Given the description of an element on the screen output the (x, y) to click on. 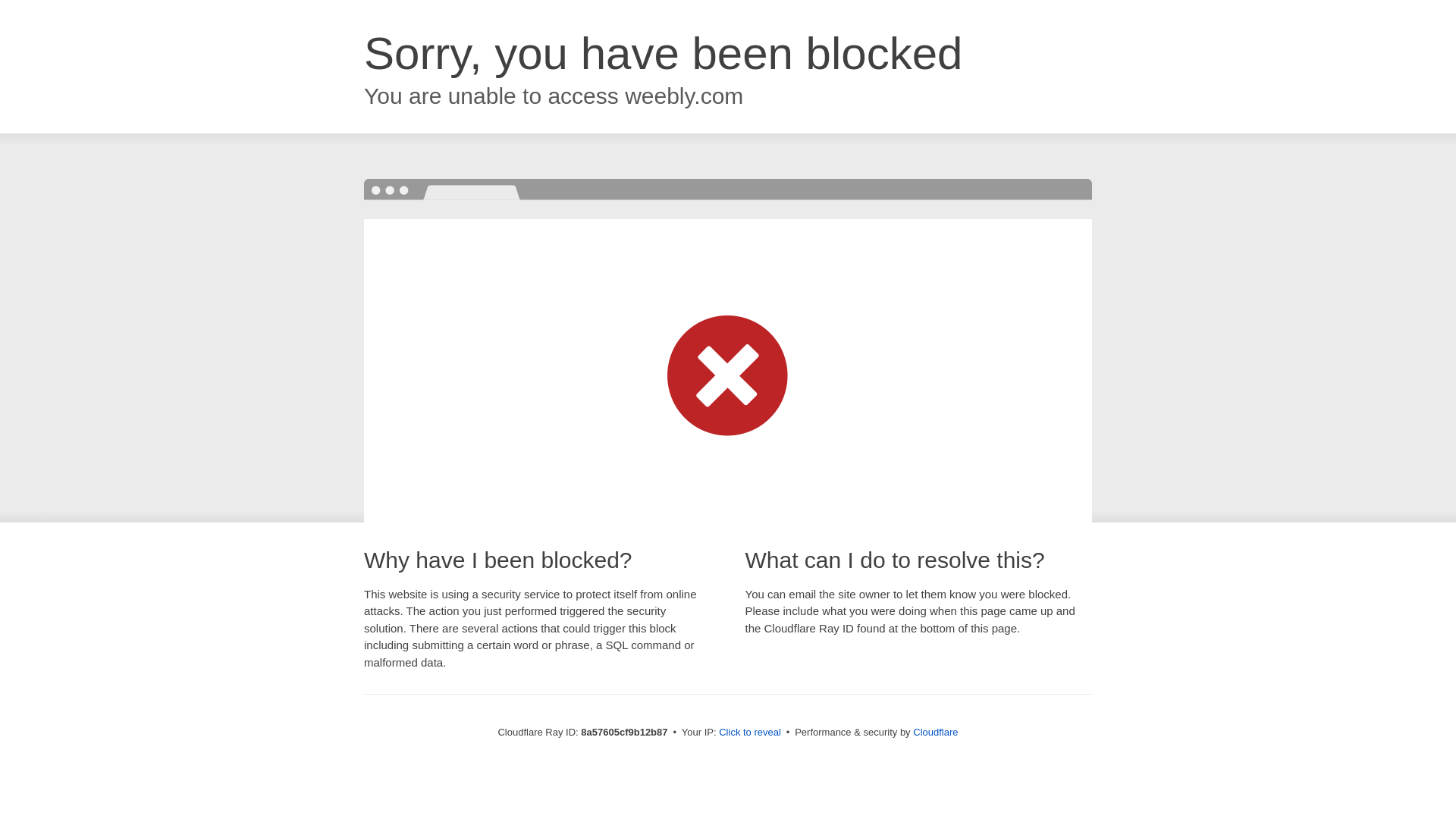
Cloudflare (935, 731)
Click to reveal (749, 732)
